Given the description of an element on the screen output the (x, y) to click on. 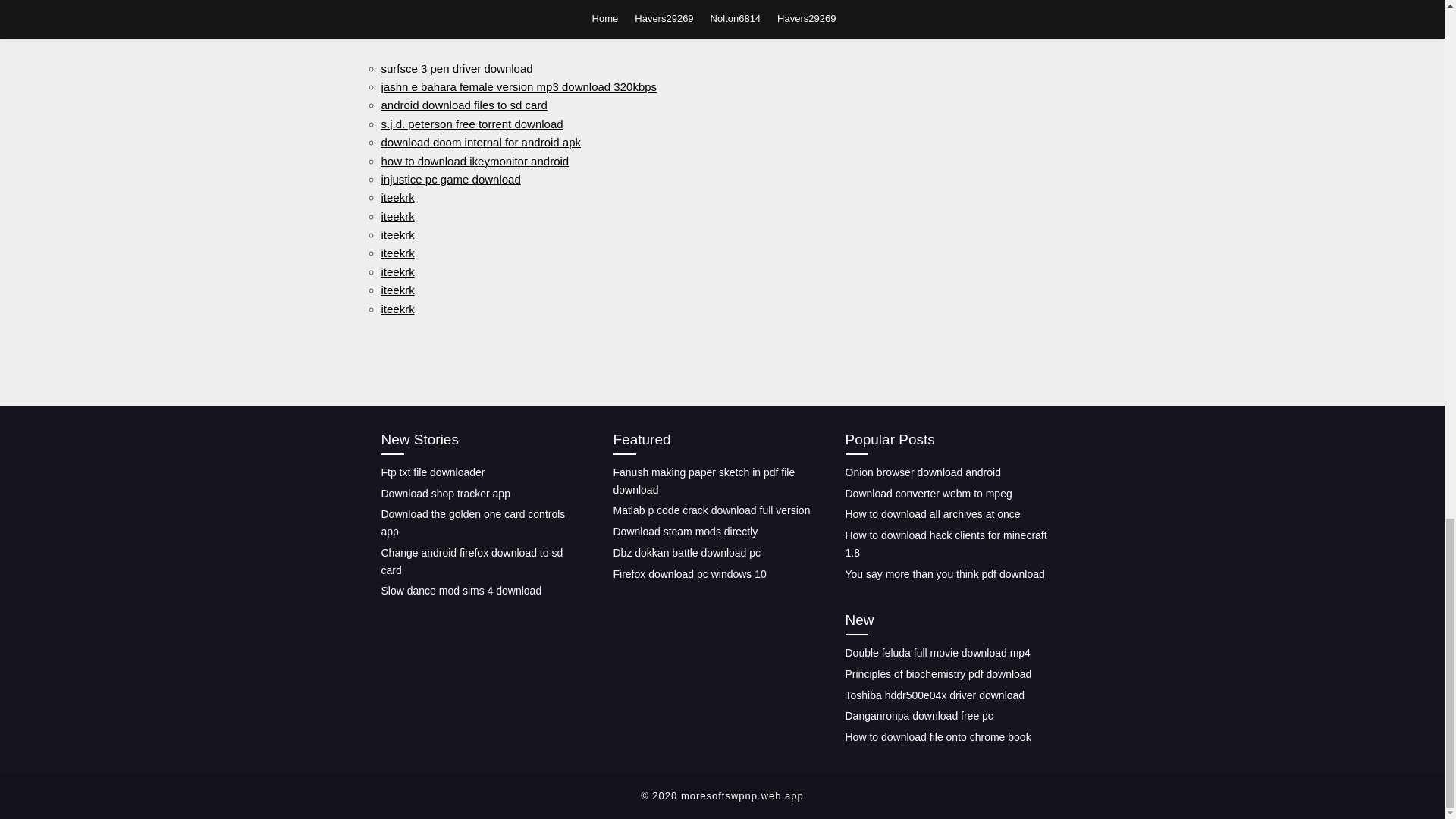
Dbz dokkan battle download pc (686, 552)
iteekrk (396, 308)
download doom internal for android apk (480, 141)
iteekrk (396, 289)
s.j.d. peterson free torrent download (471, 123)
Matlab p code crack download full version (710, 510)
How to download hack clients for minecraft 1.8 (945, 543)
Change android firefox download to sd card (471, 561)
Download steam mods directly (684, 531)
iteekrk (396, 215)
How to download all archives at once (932, 513)
how to download ikeymonitor android (474, 160)
Download shop tracker app (444, 493)
Firefox download pc windows 10 (688, 573)
Download the golden one card controls app (472, 522)
